Given the description of an element on the screen output the (x, y) to click on. 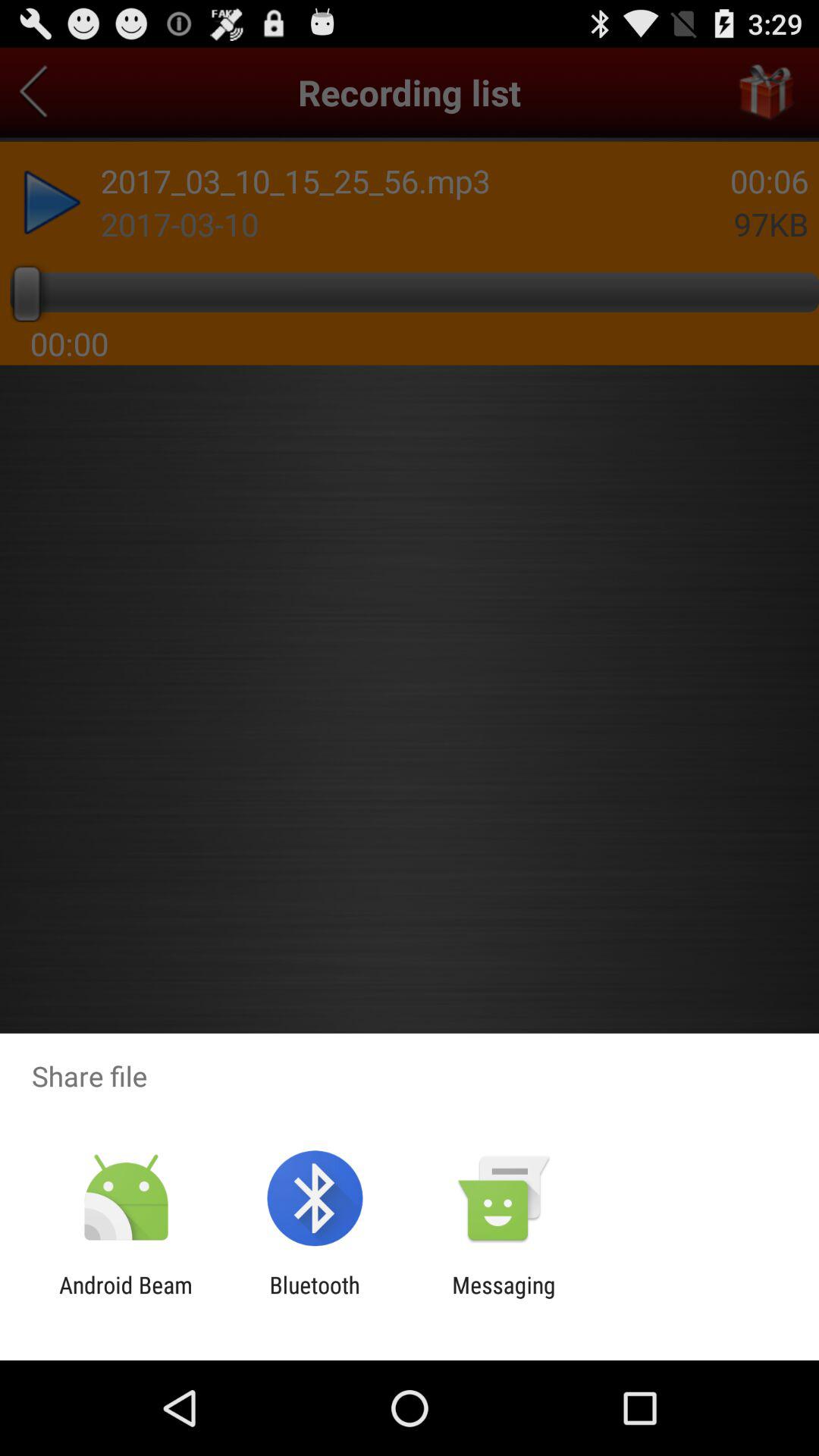
select icon next to the bluetooth item (125, 1298)
